Given the description of an element on the screen output the (x, y) to click on. 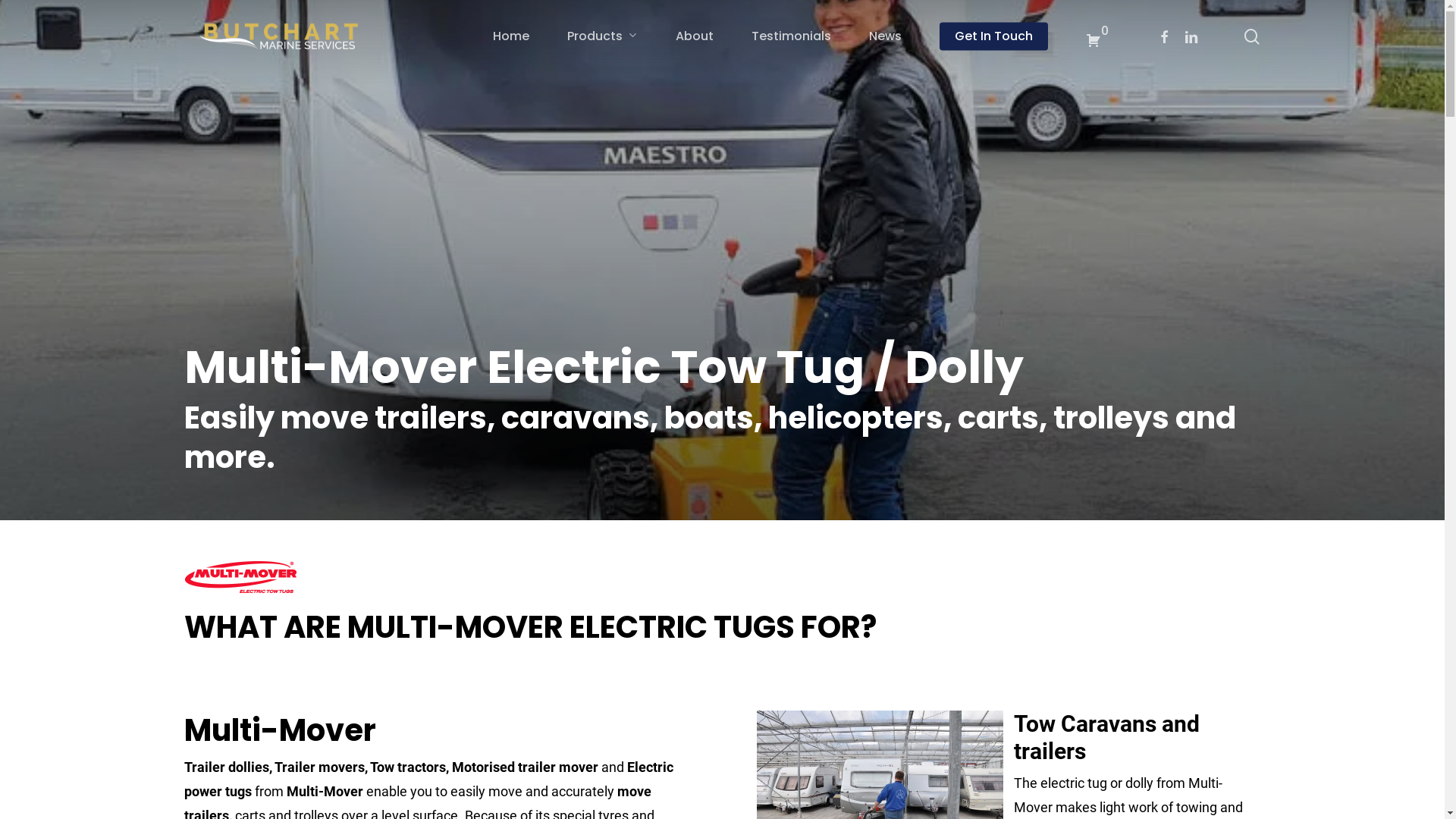
Facebook Element type: text (1162, 36)
News Element type: text (884, 36)
Capria: Dry Boat Stacking Element type: text (891, 578)
Website design by cartercarter.com.au Element type: text (256, 795)
Multi-Mover: Electric Tug Element type: text (890, 487)
Products Element type: text (601, 36)
Get In Touch Element type: text (992, 36)
0438 548 163 Element type: text (623, 487)
Brownell: Boat Stands Element type: text (880, 518)
Roodberg: Boat Handling Element type: text (889, 548)
youtube Element type: text (1252, 775)
facebook Element type: text (1195, 775)
Home Element type: text (510, 36)
About Element type: text (694, 36)
Send us an email Element type: text (633, 527)
Linkedin Element type: text (1190, 36)
0 Element type: text (1096, 36)
search Element type: text (1251, 36)
linkedin Element type: text (1222, 775)
Testimonials Element type: text (791, 36)
